Given the description of an element on the screen output the (x, y) to click on. 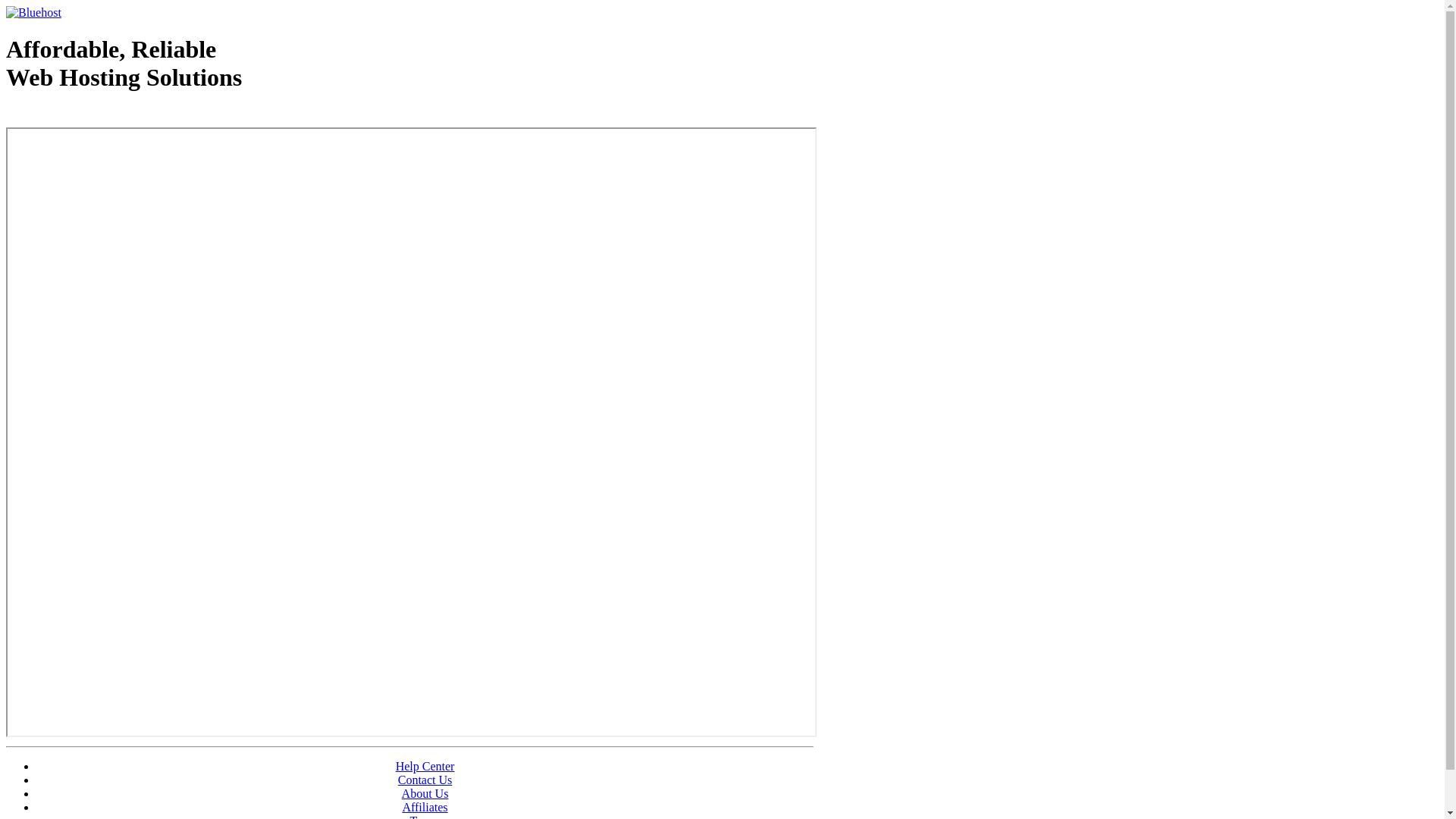
About Us Element type: text (424, 793)
Contact Us Element type: text (425, 779)
Help Center Element type: text (425, 765)
Web Hosting - courtesy of www.bluehost.com Element type: text (94, 115)
Affiliates Element type: text (424, 806)
